Given the description of an element on the screen output the (x, y) to click on. 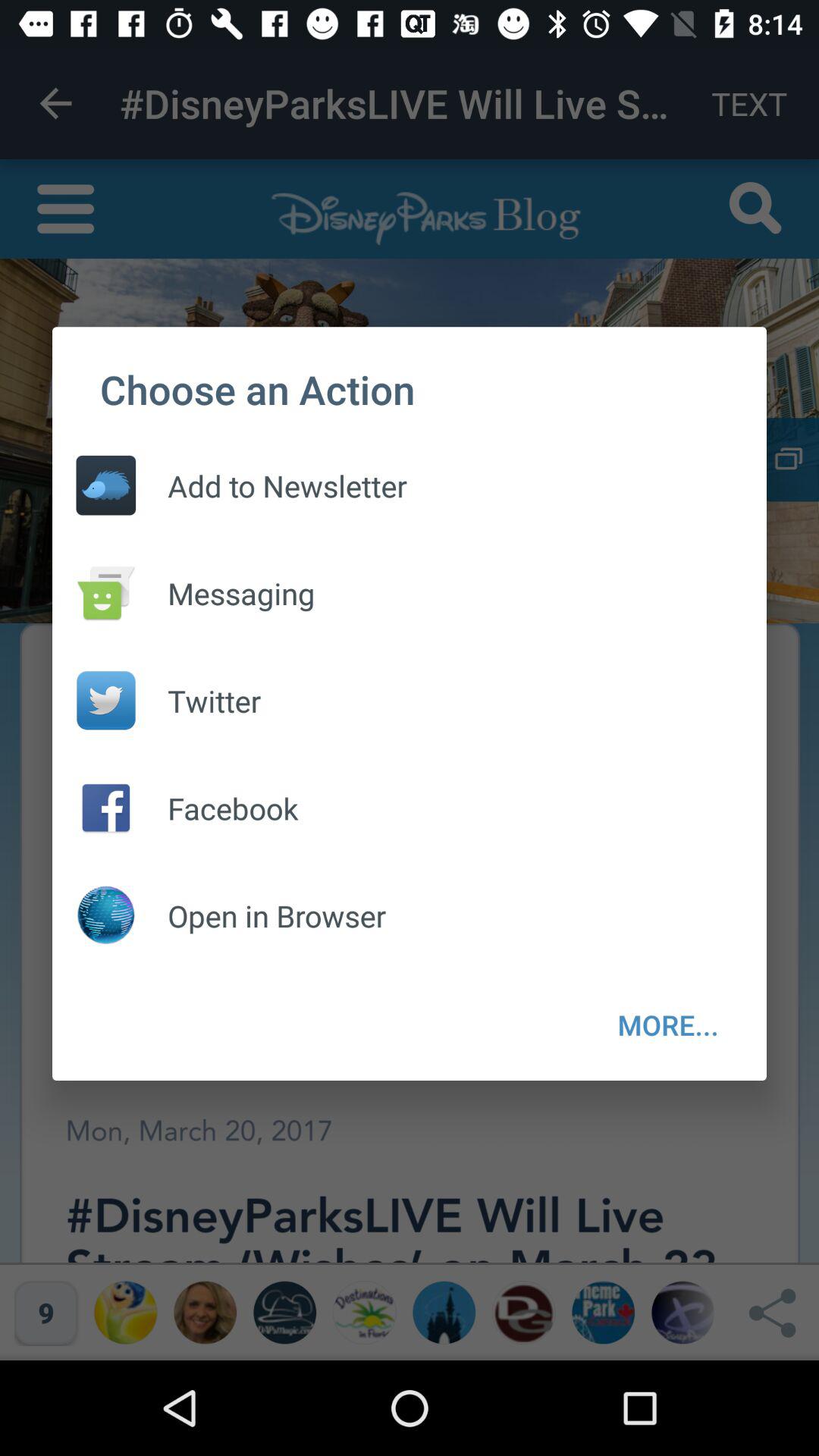
press item below choose an action item (271, 485)
